Given the description of an element on the screen output the (x, y) to click on. 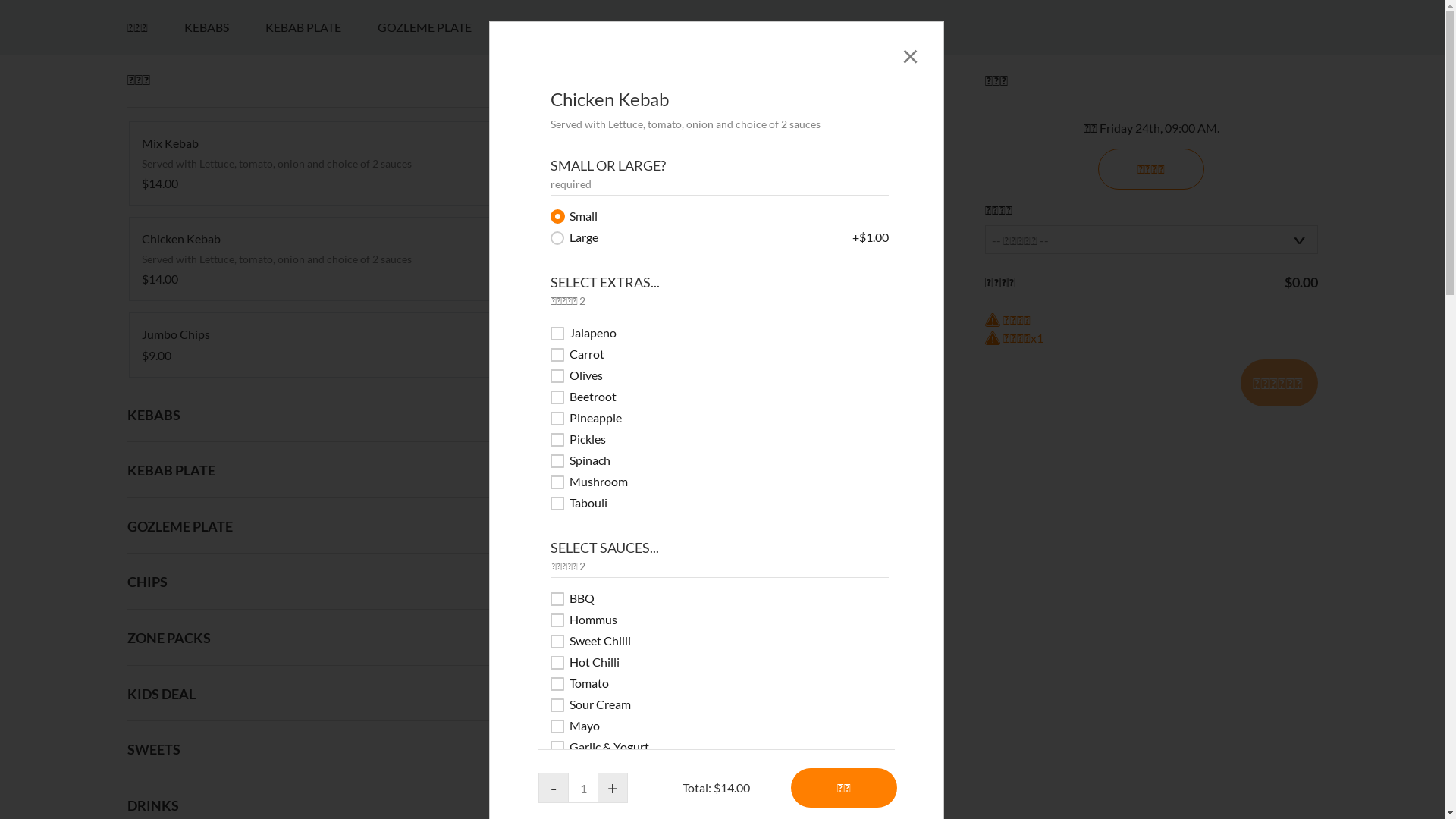
Jumbo Chips
$9.00 Element type: text (317, 732)
Jumbo Chips
$9.00 Element type: text (317, 732)
KEBABS Element type: text (223, 414)
ZONE PACKS Element type: text (634, 414)
CHIPS Element type: text (543, 414)
Large Chips
$6.50 Element type: text (722, 732)
Large Chips
$6.50 Element type: text (722, 732)
832697 Element type: text (4, 392)
KIDS DEAL Element type: text (736, 414)
GOZLEME PLATE Element type: text (442, 414)
SWEETS Element type: text (825, 414)
DRINKS Element type: text (906, 414)
KEBAB PLATE Element type: text (321, 414)
